Given the description of an element on the screen output the (x, y) to click on. 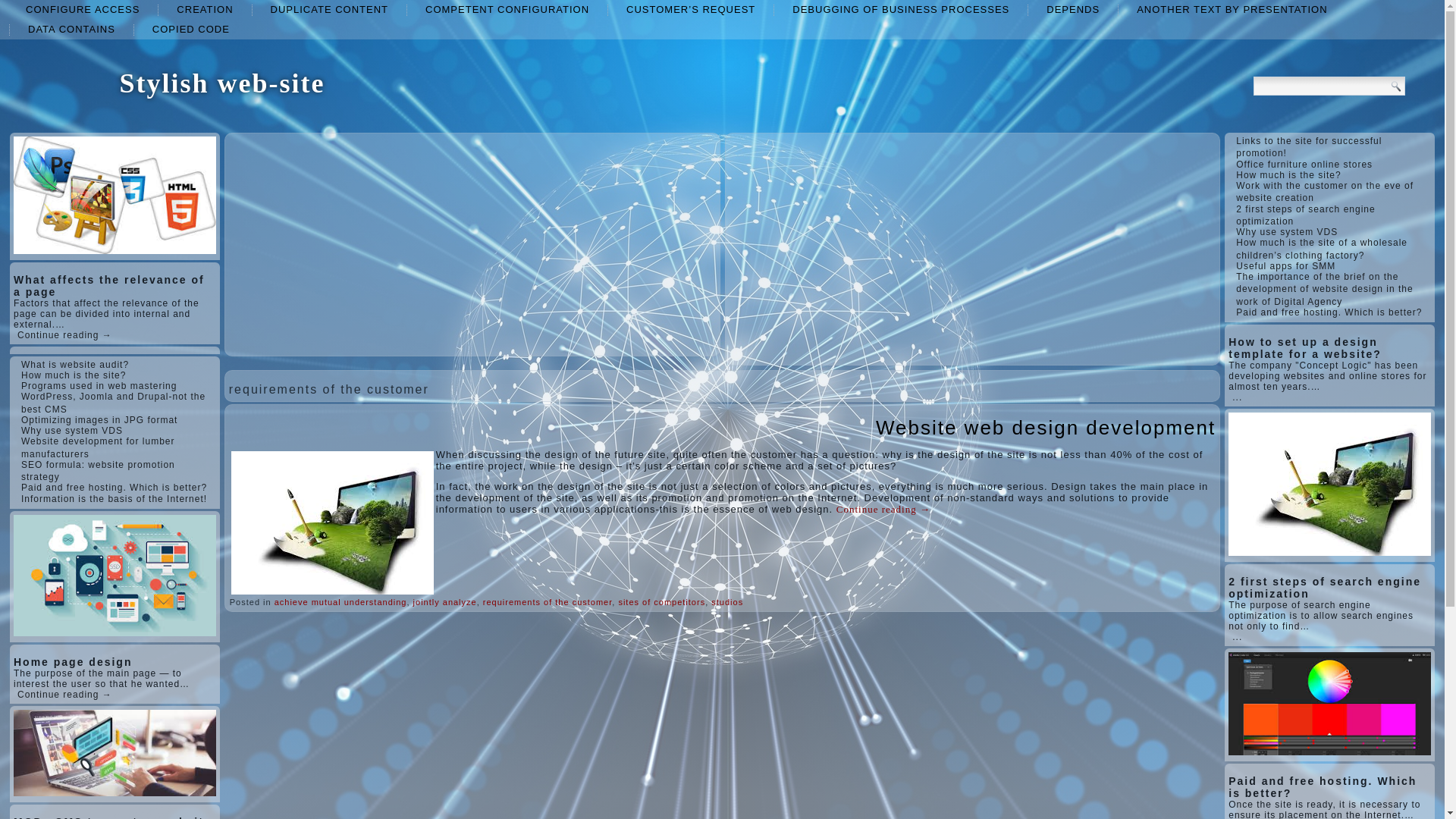
Links to the site for successful promotion! (1308, 146)
another text by presentation (1231, 9)
Why use system VDS (71, 430)
debugging of business processes (901, 9)
DATA CONTAINS (71, 29)
Paid and free hosting. Which is better? (113, 487)
How much is the site? (73, 375)
Optimizing images in JPG format (99, 419)
How much is the site? (73, 375)
depends (1072, 9)
Information is the basis of the Internet! (113, 498)
Programs used in web mastering (98, 385)
requirements of the customer (547, 601)
CONFIGURE ACCESS (81, 9)
copied code (190, 29)
